Given the description of an element on the screen output the (x, y) to click on. 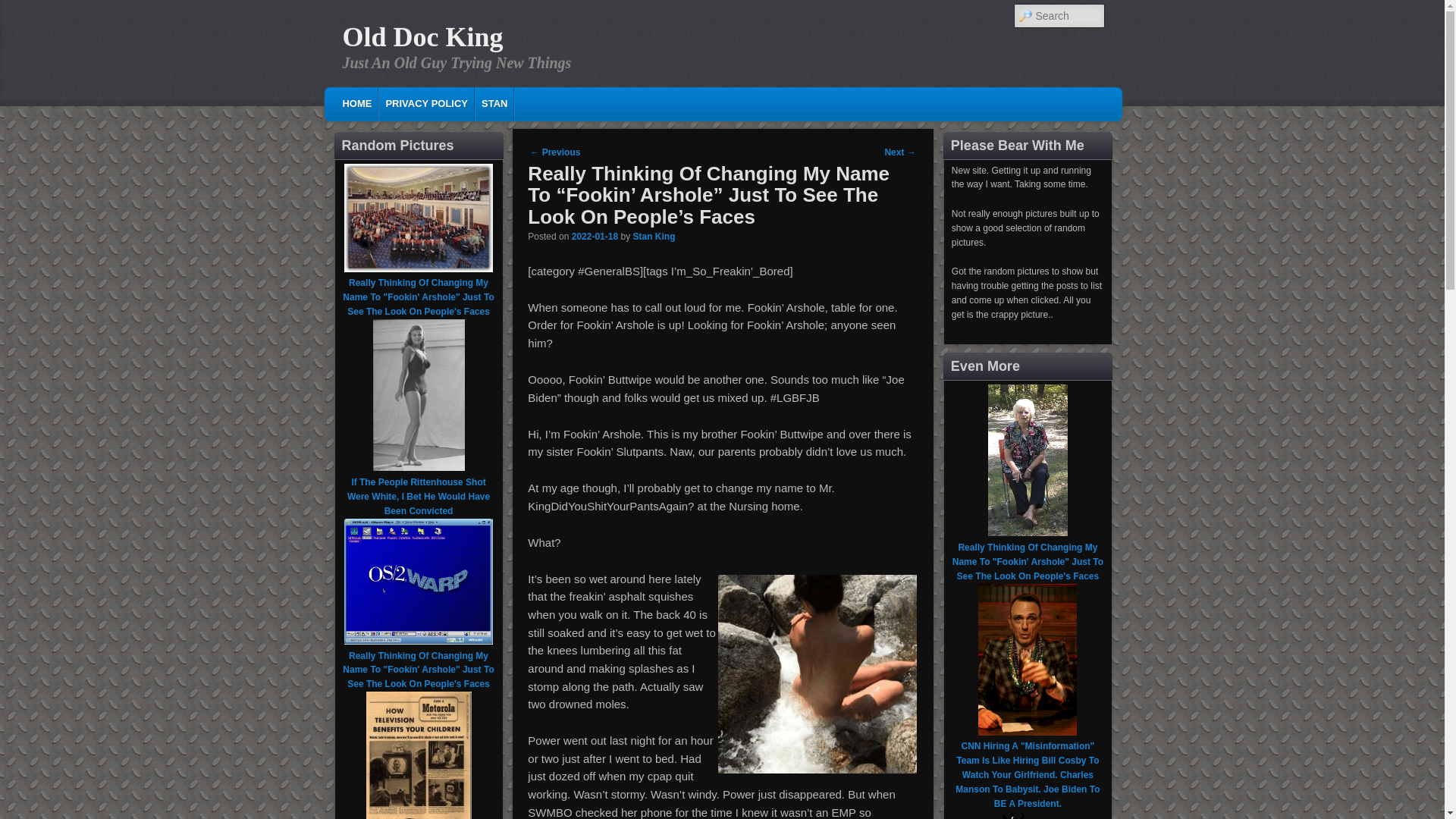
HOME (356, 103)
0249 (594, 235)
STAN (494, 103)
Skip to primary content (421, 102)
2022-01-18 (594, 235)
os2warp.jpg (418, 581)
PRIVACY POLICY (426, 103)
Skip to secondary content (432, 102)
